Given the description of an element on the screen output the (x, y) to click on. 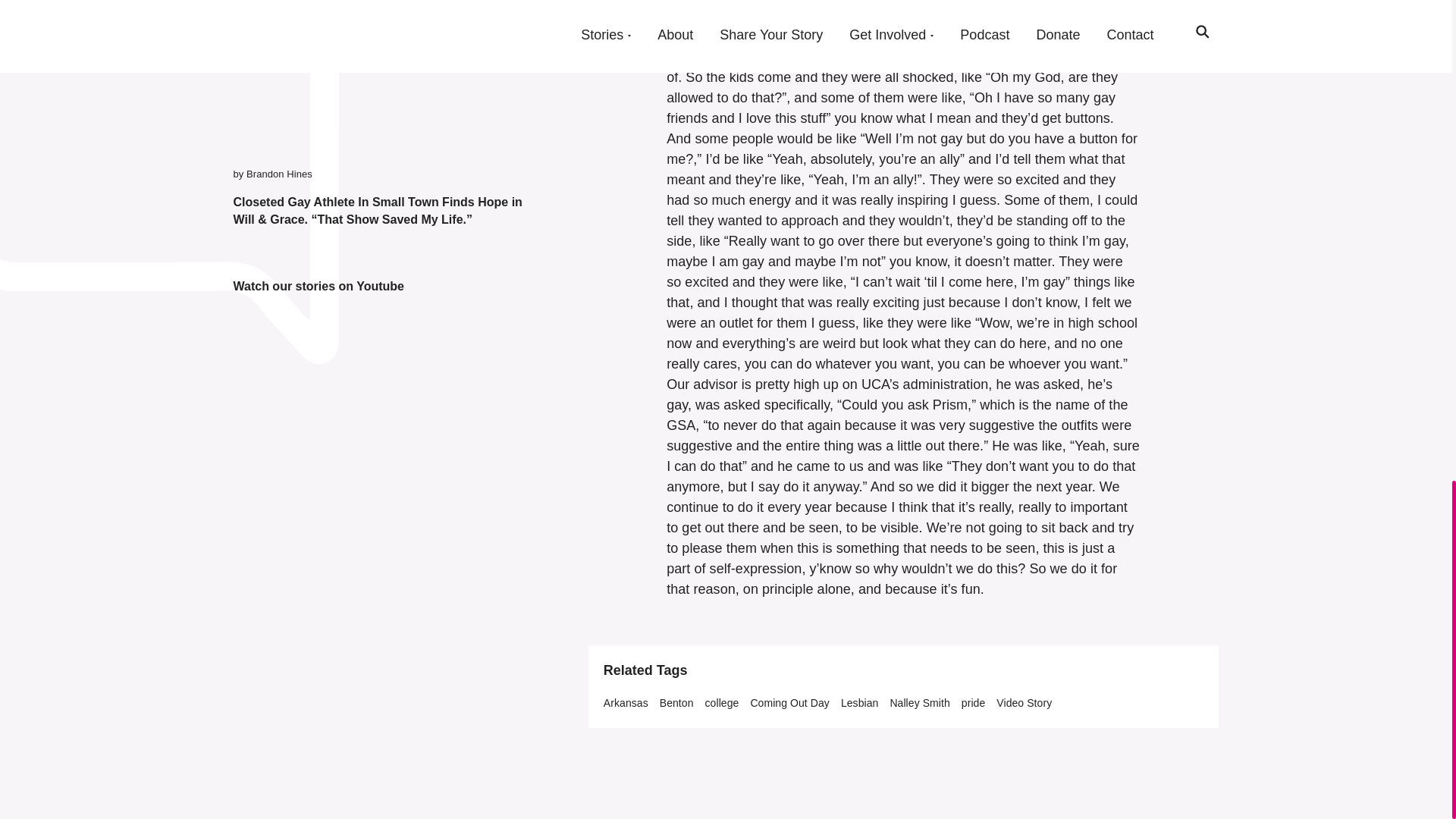
pride (972, 703)
college (721, 703)
Video Story (1023, 703)
Benton (676, 703)
Lesbian (860, 703)
Nalley Smith (919, 703)
Coming Out Day (788, 703)
Arkansas (625, 703)
